Given the description of an element on the screen output the (x, y) to click on. 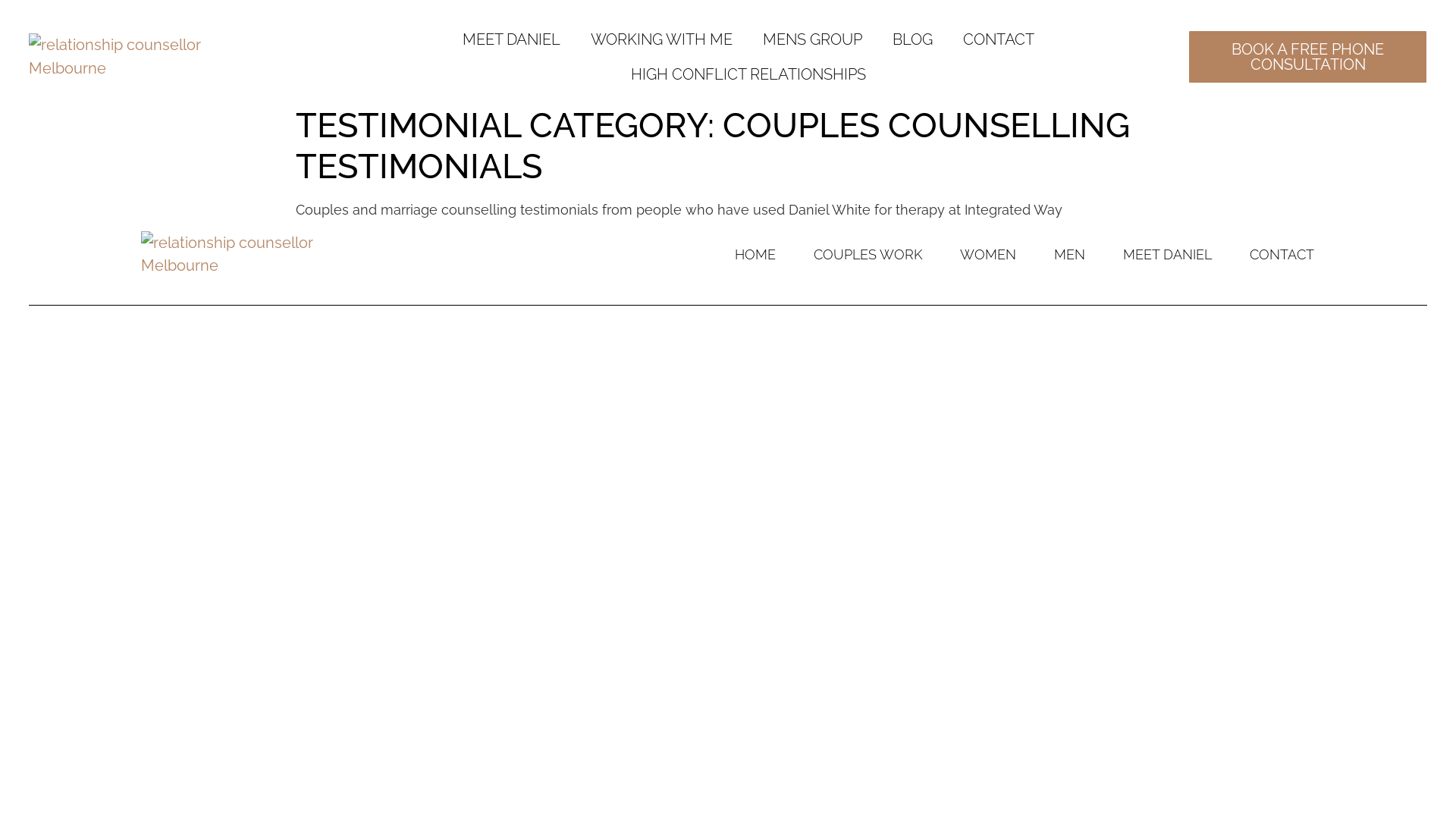
COUPLES WORK Element type: text (867, 254)
HIGH CONFLICT RELATIONSHIPS Element type: text (748, 73)
MEN Element type: text (1069, 254)
CONTACT Element type: text (1281, 254)
WOMEN Element type: text (988, 254)
MEET DANIEL Element type: text (1167, 254)
MENS GROUP Element type: text (812, 38)
BLOG Element type: text (912, 38)
HOME Element type: text (754, 254)
MEET DANIEL Element type: text (511, 38)
CONTACT Element type: text (998, 38)
BOOK A FREE PHONE CONSULTATION Element type: text (1307, 57)
WORKING WITH ME Element type: text (661, 38)
